Given the description of an element on the screen output the (x, y) to click on. 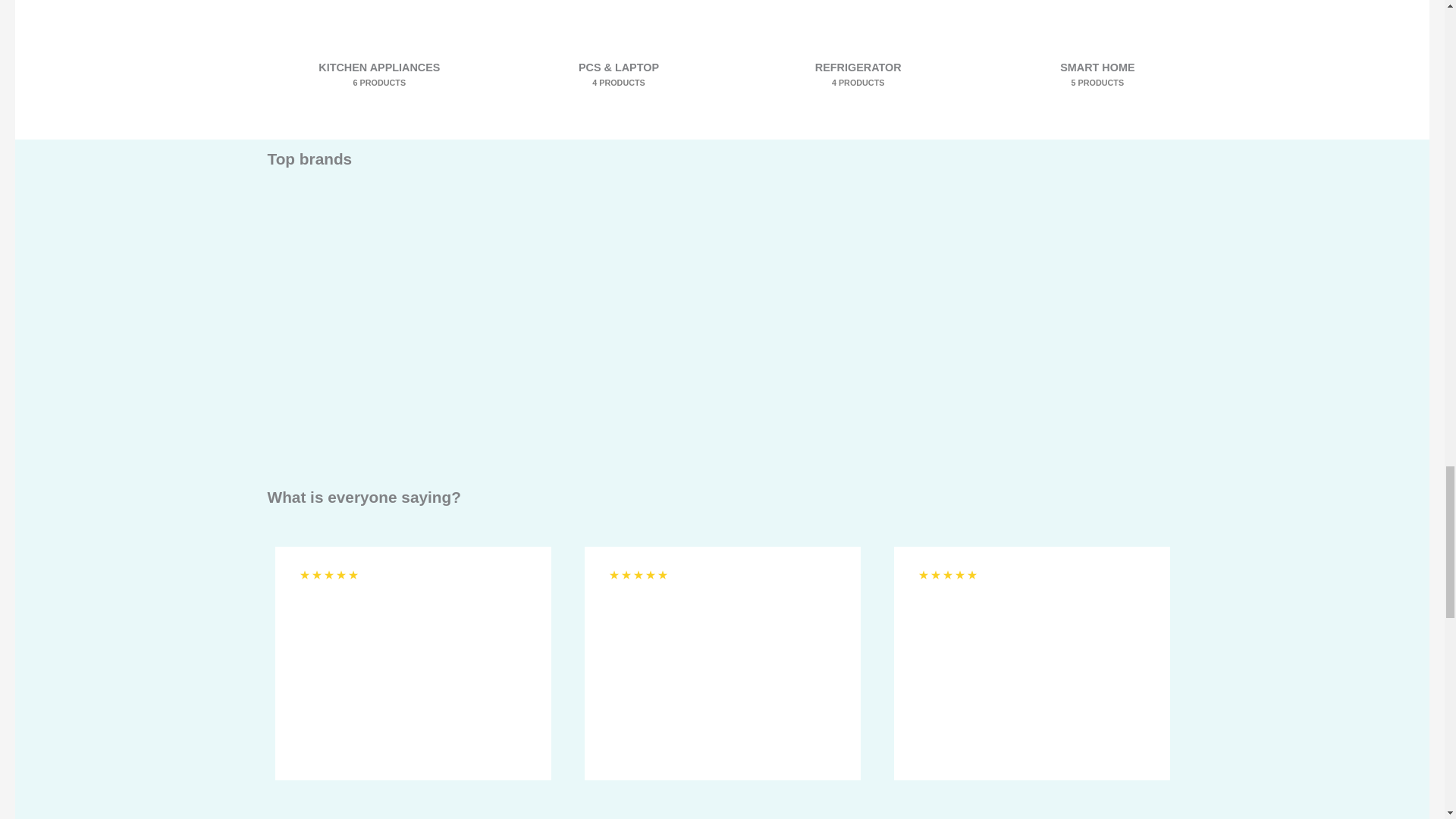
13 (379, 58)
